Given the description of an element on the screen output the (x, y) to click on. 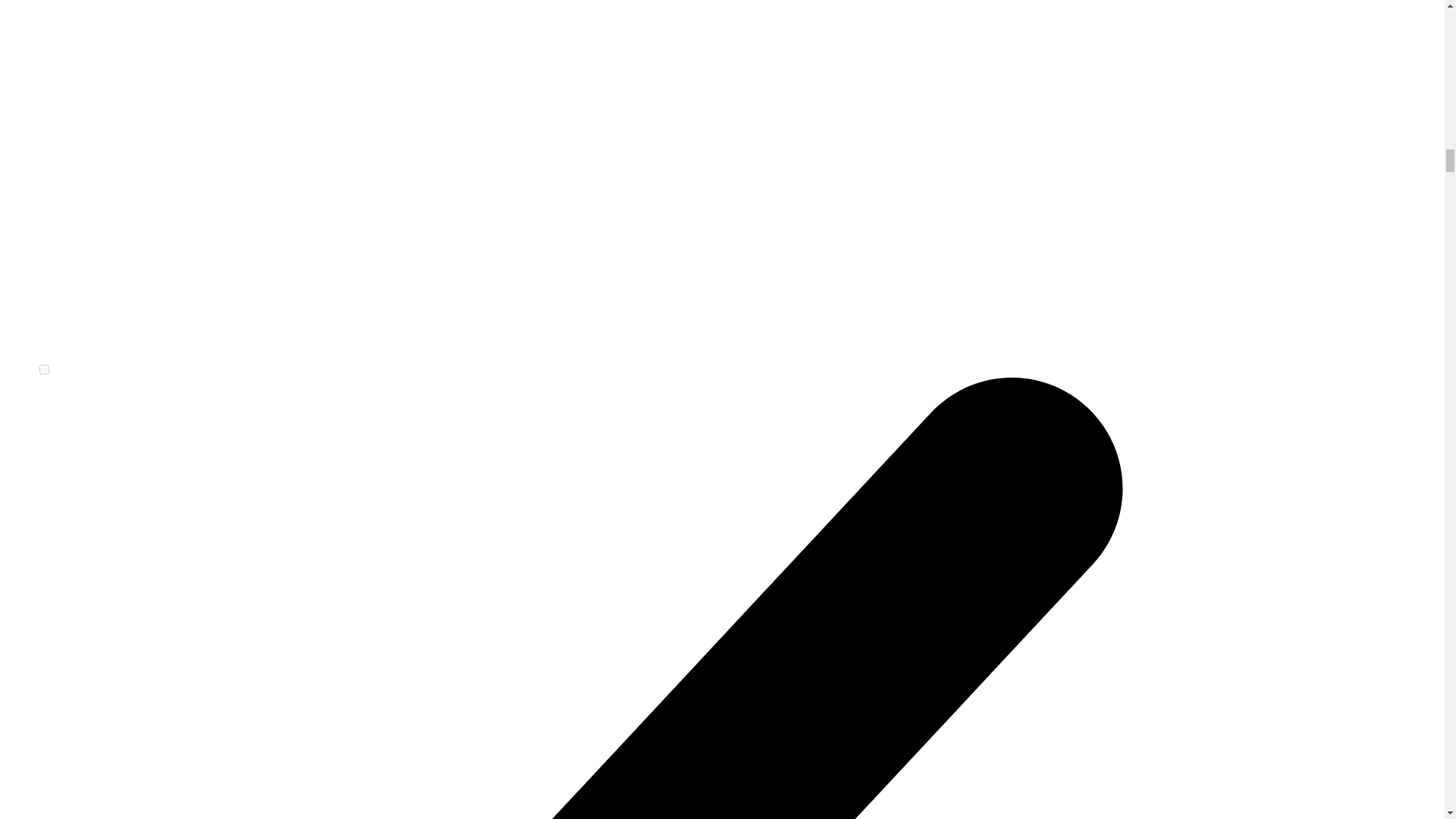
on (44, 369)
